Given the description of an element on the screen output the (x, y) to click on. 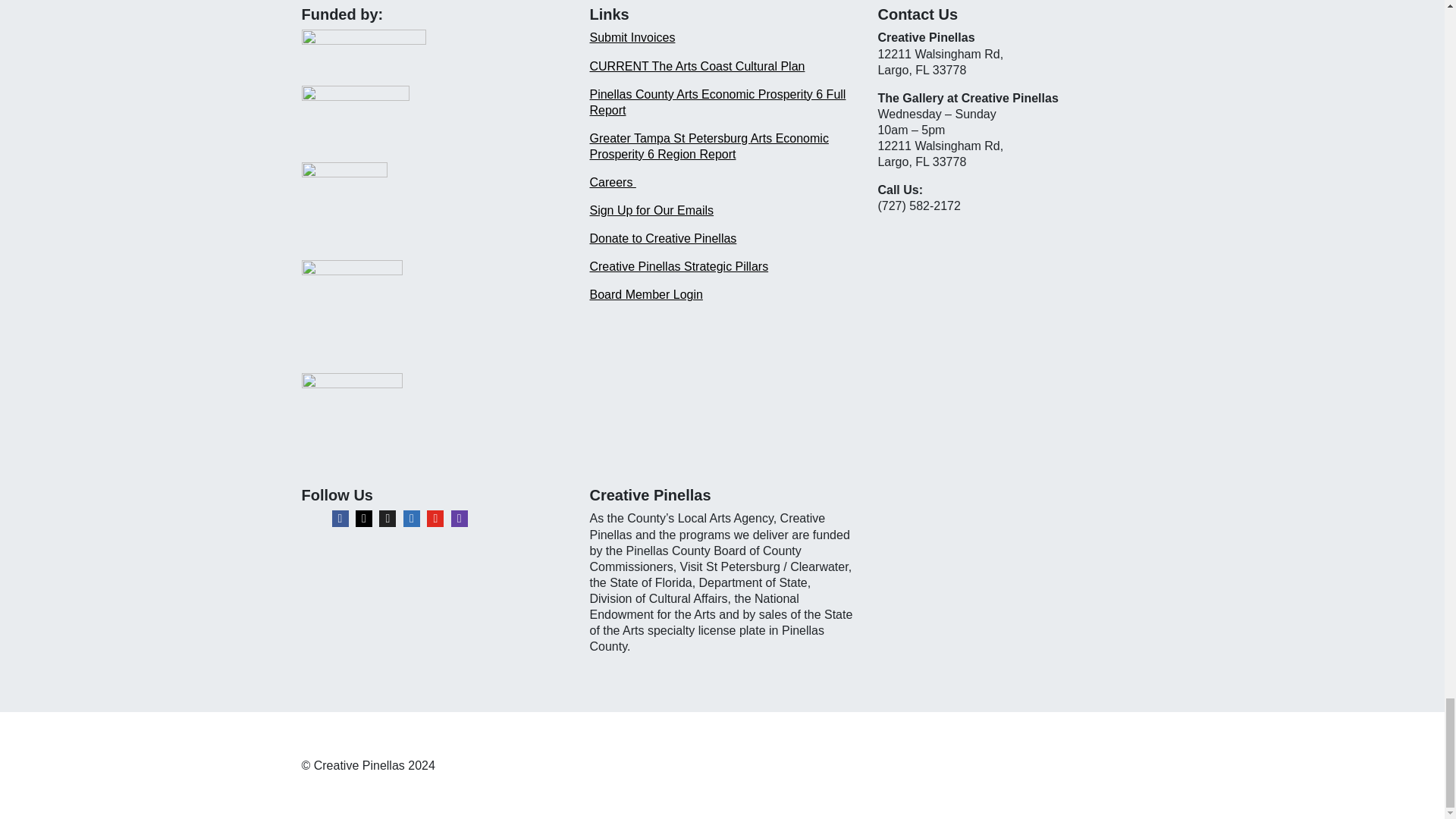
Linkedin (411, 518)
Instagram (363, 518)
Facebook (340, 518)
